Given the description of an element on the screen output the (x, y) to click on. 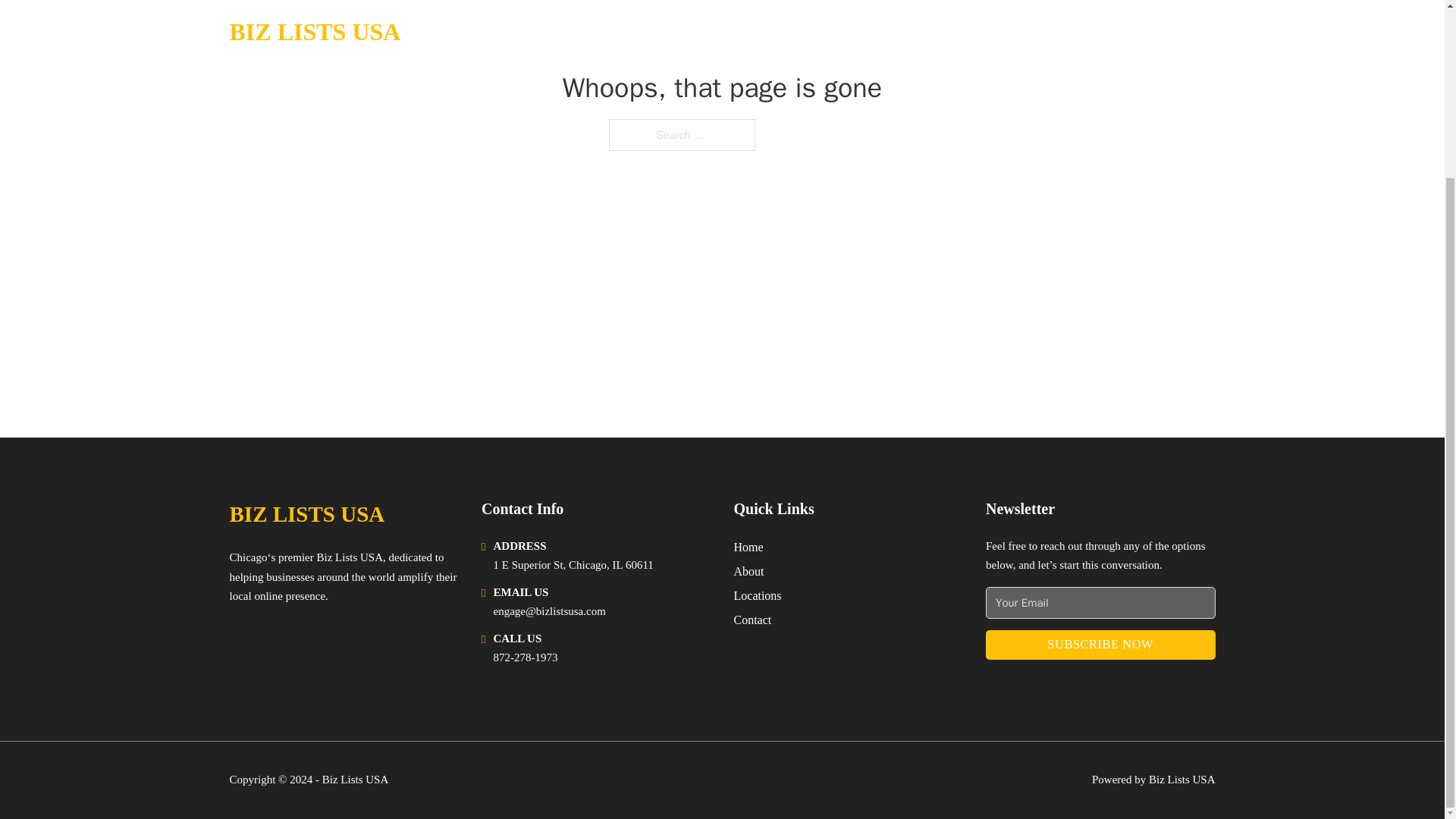
BIZ LISTS USA (306, 514)
About (748, 571)
Contact (752, 619)
872-278-1973 (525, 657)
Home (747, 547)
Locations (757, 595)
SUBSCRIBE NOW (1100, 644)
